Given the description of an element on the screen output the (x, y) to click on. 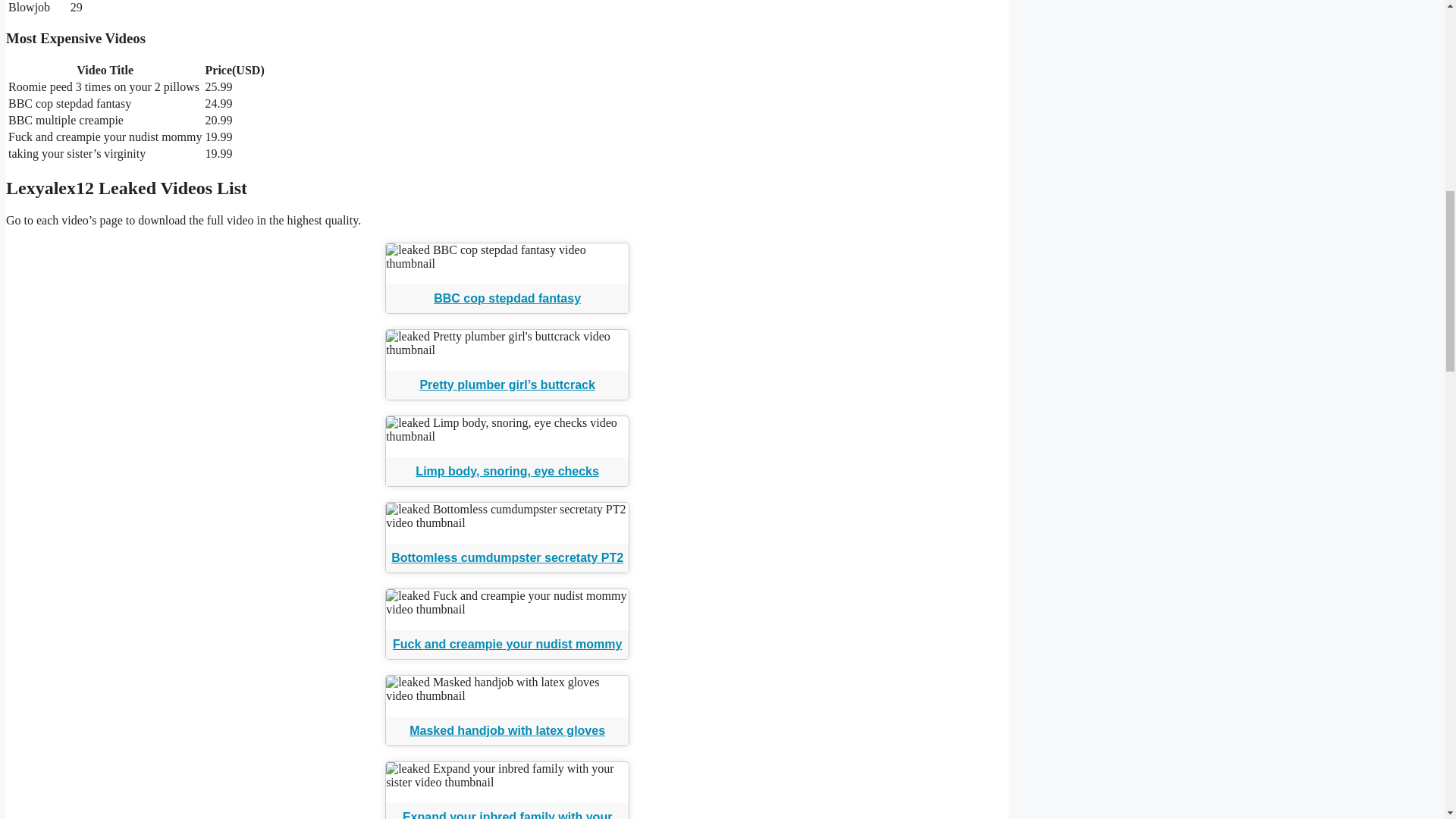
Bottomless cumdumpster secretaty PT2 (507, 557)
BBC cop stepdad fantasy (506, 297)
Lexyalex12 Leaked Full Videos 7 (506, 602)
Lexyalex12 Leaked Full Videos 6 (506, 515)
Limp body, snoring, eye checks (506, 471)
Expand your inbred family with your sister (507, 814)
Lexyalex12 Leaked Full Videos 4 (506, 343)
Lexyalex12 Leaked Full Videos 3 (506, 257)
Lexyalex12 Leaked Full Videos 8 (506, 688)
Lexyalex12 Leaked Full Videos 5 (506, 429)
